Given the description of an element on the screen output the (x, y) to click on. 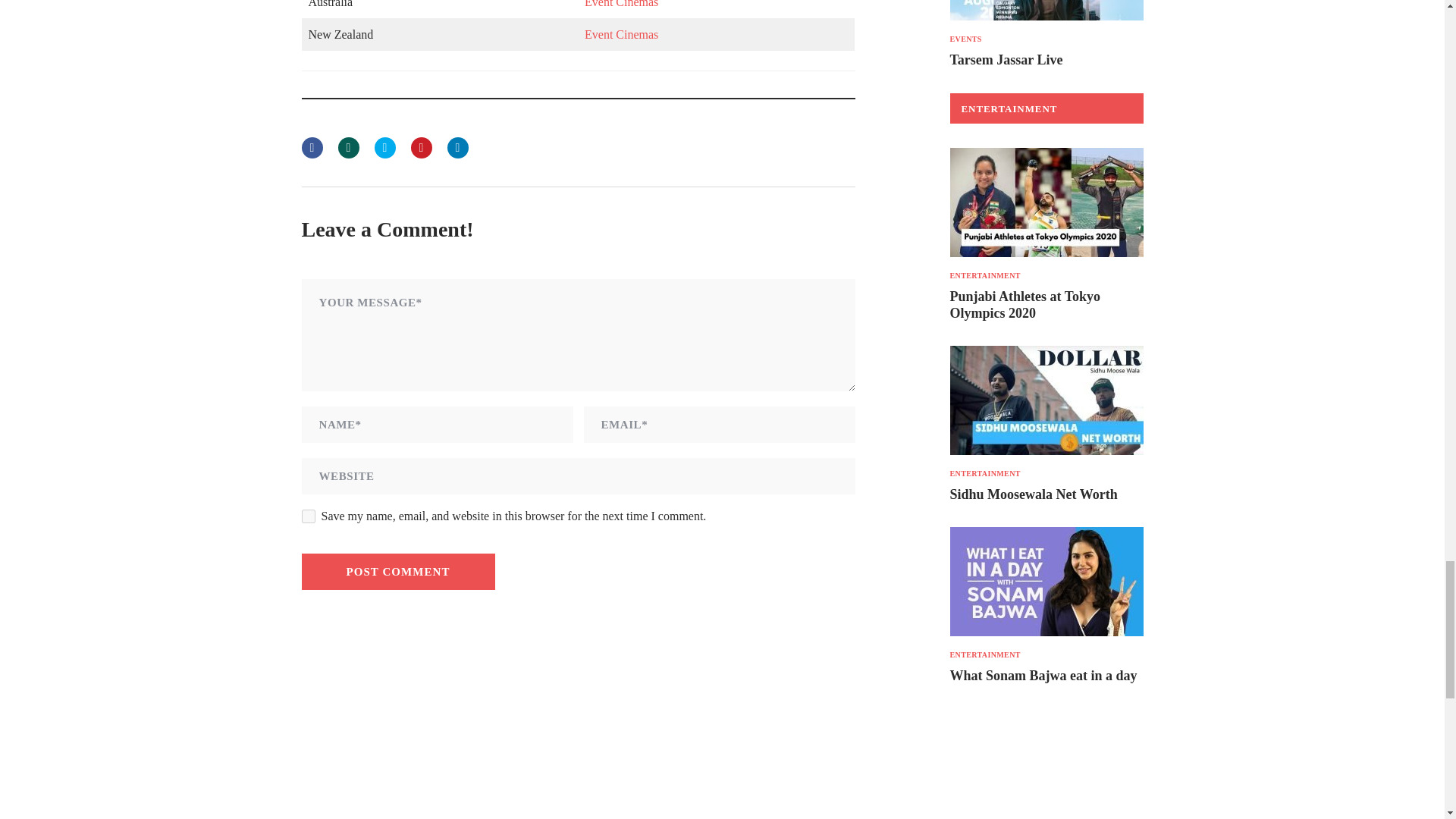
yes (308, 516)
Post Comment (398, 571)
